Given the description of an element on the screen output the (x, y) to click on. 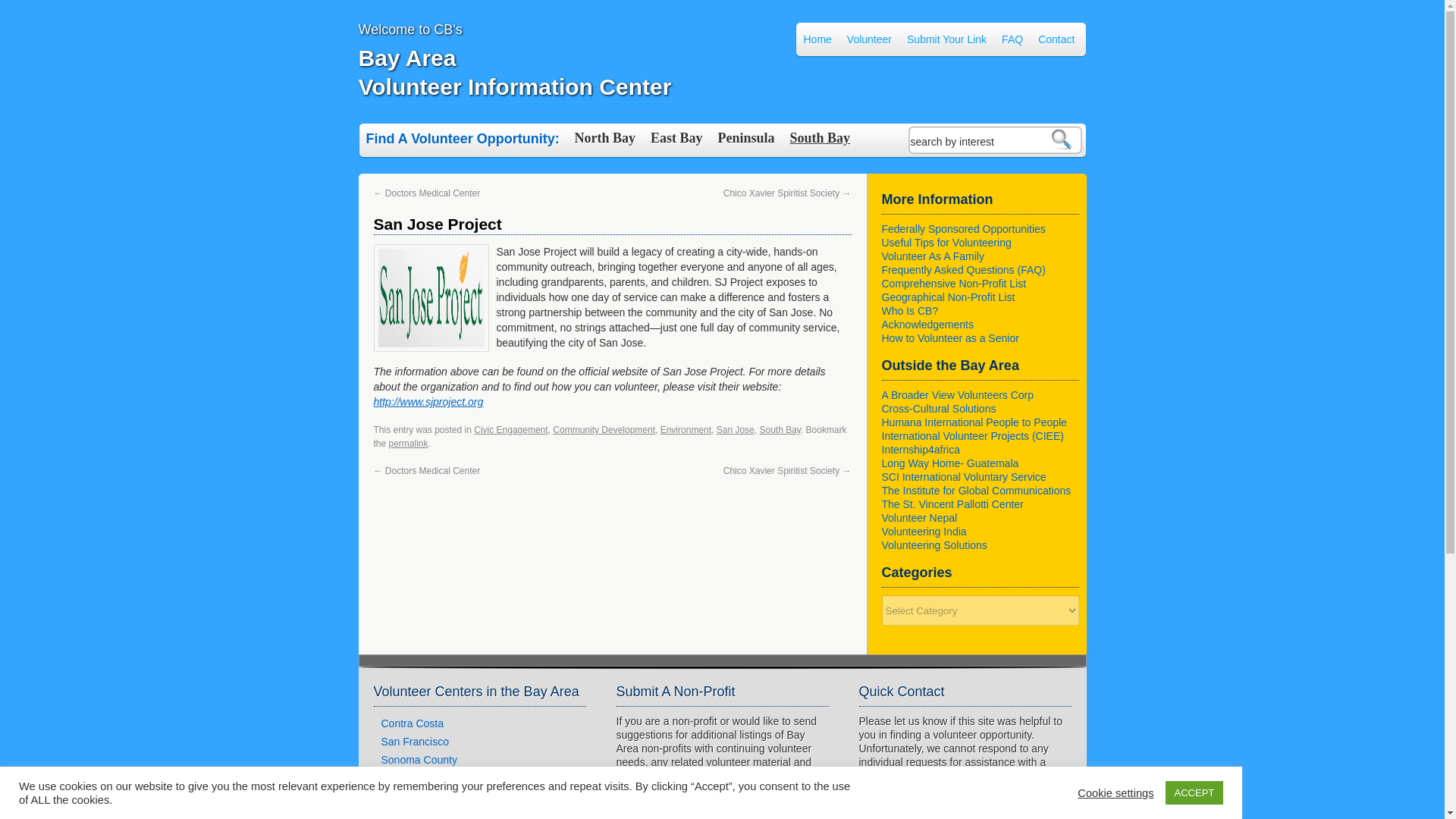
Submit Your Link (946, 39)
San Jose (735, 429)
Long Way Home- Guatemala (948, 463)
Acknowledgements (926, 324)
South Bay (821, 137)
Who Is CB? (908, 310)
Community Development (604, 429)
Wide variety of opportunities abroad (514, 72)
permalink (933, 544)
FAQ (408, 443)
Permalink to San Jose Project (1012, 39)
Environment (408, 443)
